Given the description of an element on the screen output the (x, y) to click on. 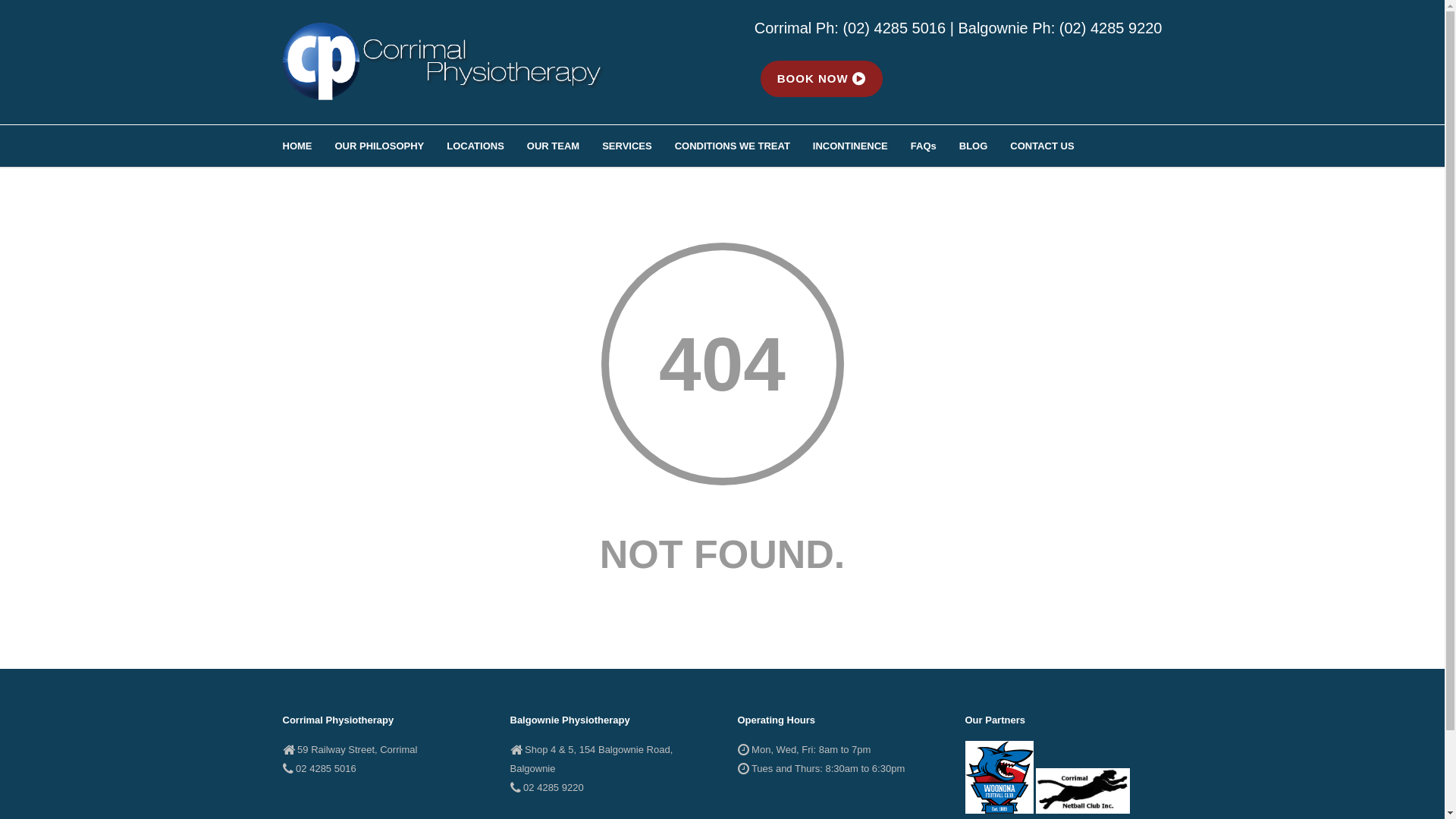
SERVICES Element type: text (638, 145)
BLOG Element type: text (984, 145)
OUR PHILOSOPHY Element type: text (391, 145)
CONTACT US Element type: text (1053, 145)
LOCATIONS Element type: text (486, 145)
BOOK NOW Element type: text (821, 77)
INCONTINENCE Element type: text (861, 145)
HOME Element type: text (308, 145)
CONDITIONS WE TREAT Element type: text (743, 145)
BOOK NOW Element type: text (821, 78)
OUR TEAM Element type: text (564, 145)
FAQs Element type: text (934, 145)
